Given the description of an element on the screen output the (x, y) to click on. 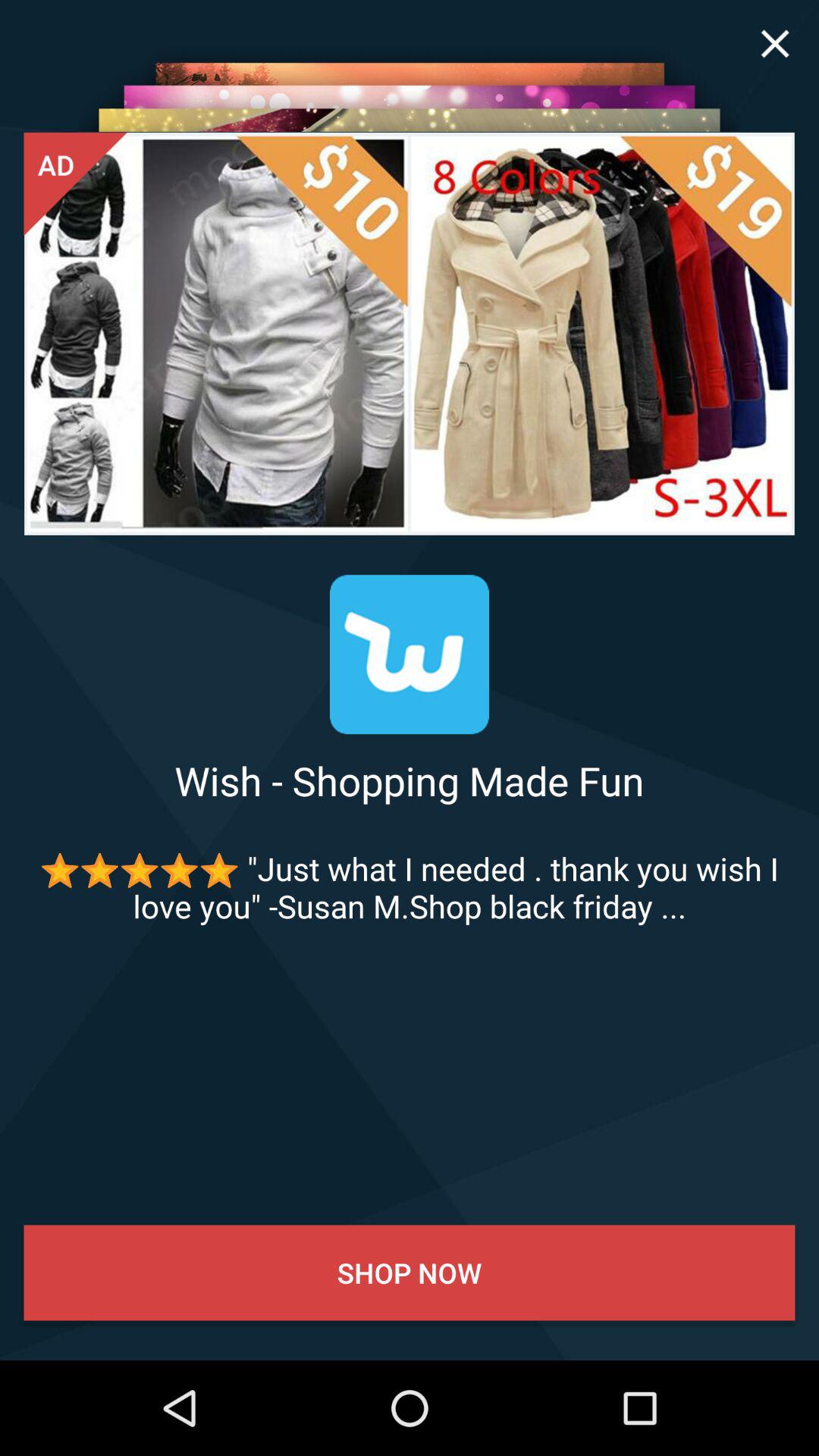
swipe until wish shopping made (409, 780)
